Given the description of an element on the screen output the (x, y) to click on. 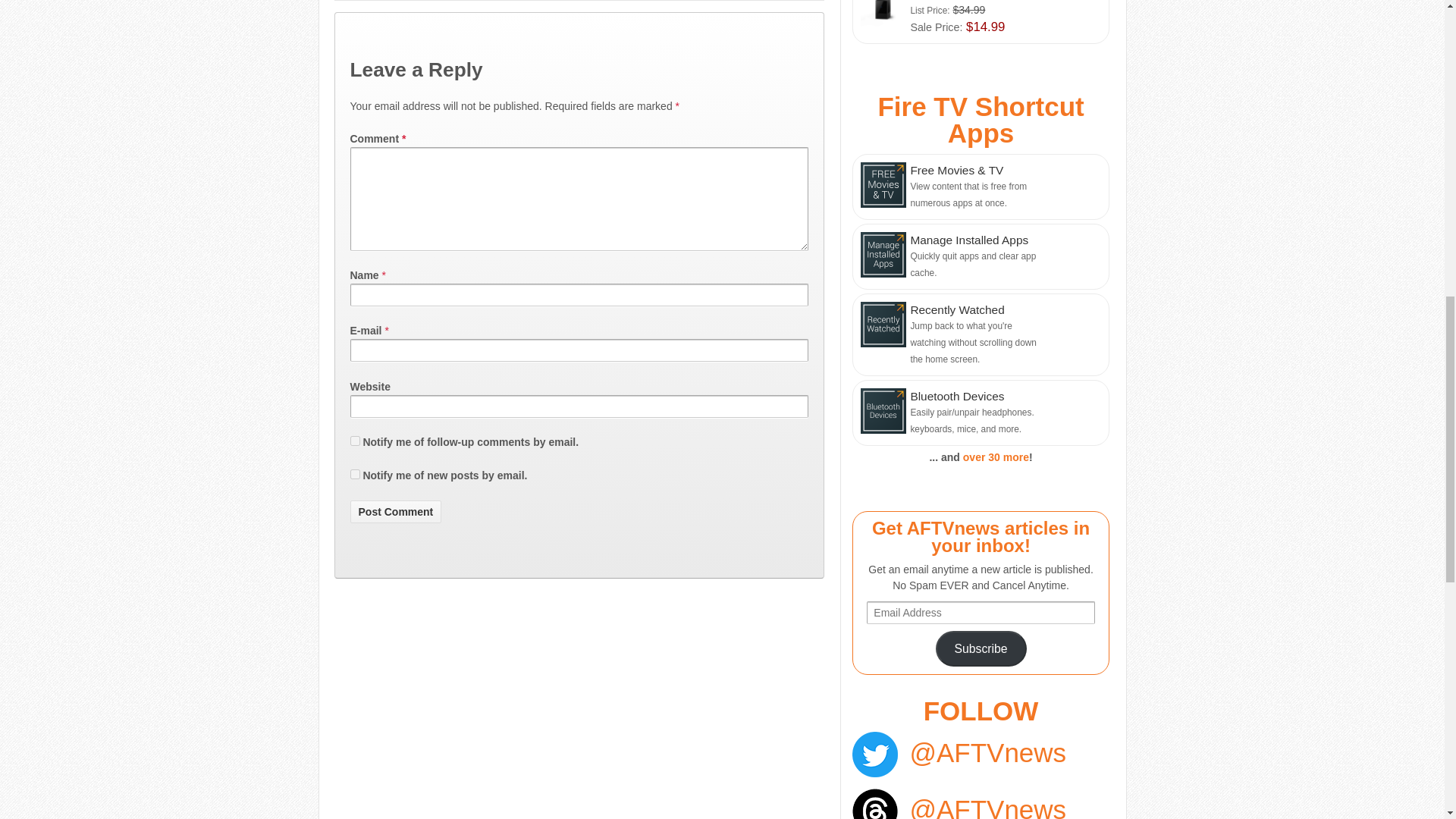
subscribe (354, 474)
subscribe (354, 440)
Post Comment (396, 511)
